Given the description of an element on the screen output the (x, y) to click on. 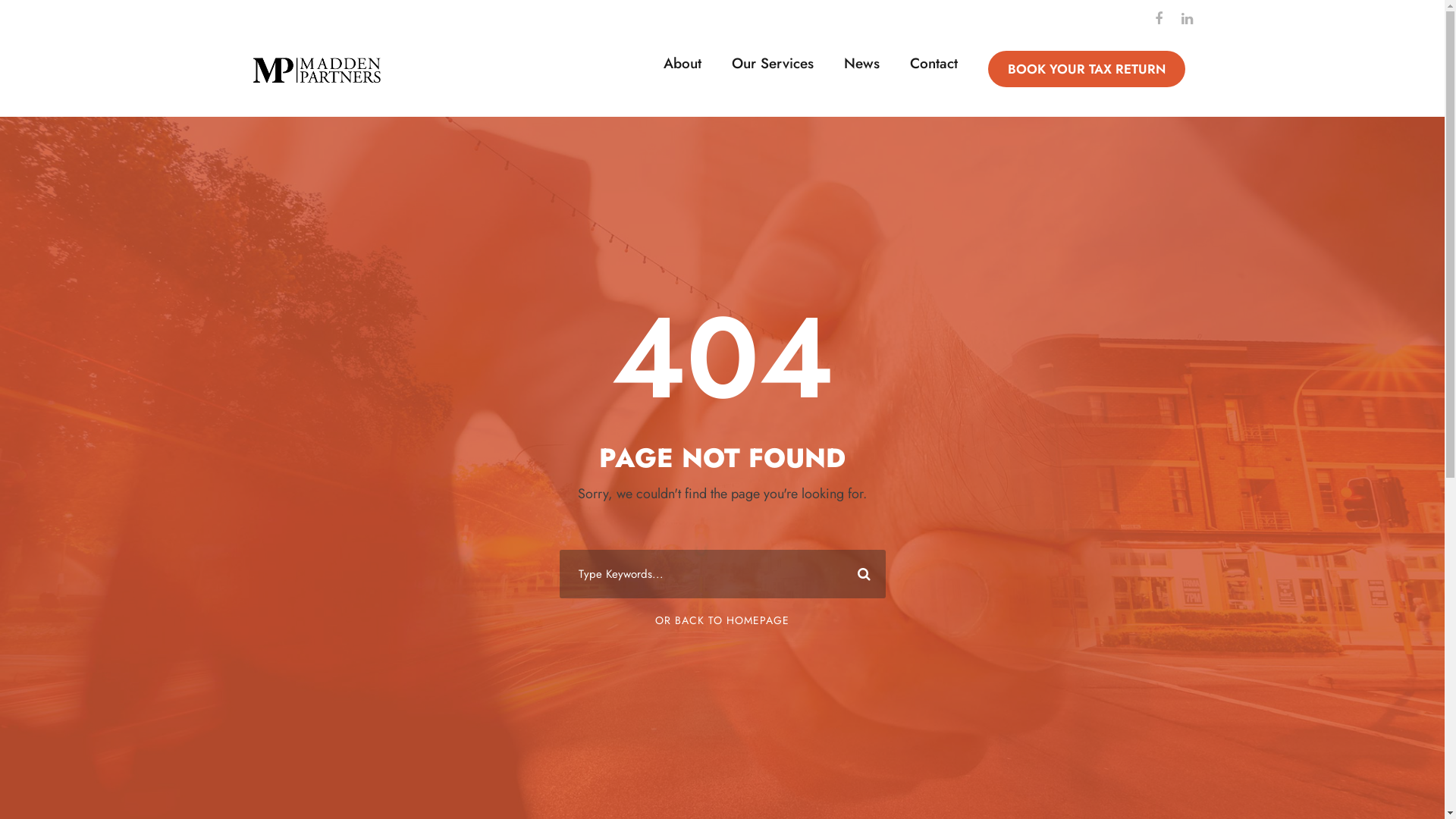
Our Services Element type: text (771, 70)
Madden-Partners-logo Element type: hover (315, 69)
facebook Element type: hover (1157, 18)
linkedin Element type: hover (1186, 18)
OR BACK TO HOMEPAGE Element type: text (722, 619)
Contact Element type: text (933, 70)
Search Element type: text (860, 573)
About Element type: text (681, 70)
News Element type: text (860, 70)
BOOK YOUR TAX RETURN Element type: text (1085, 68)
